Given the description of an element on the screen output the (x, y) to click on. 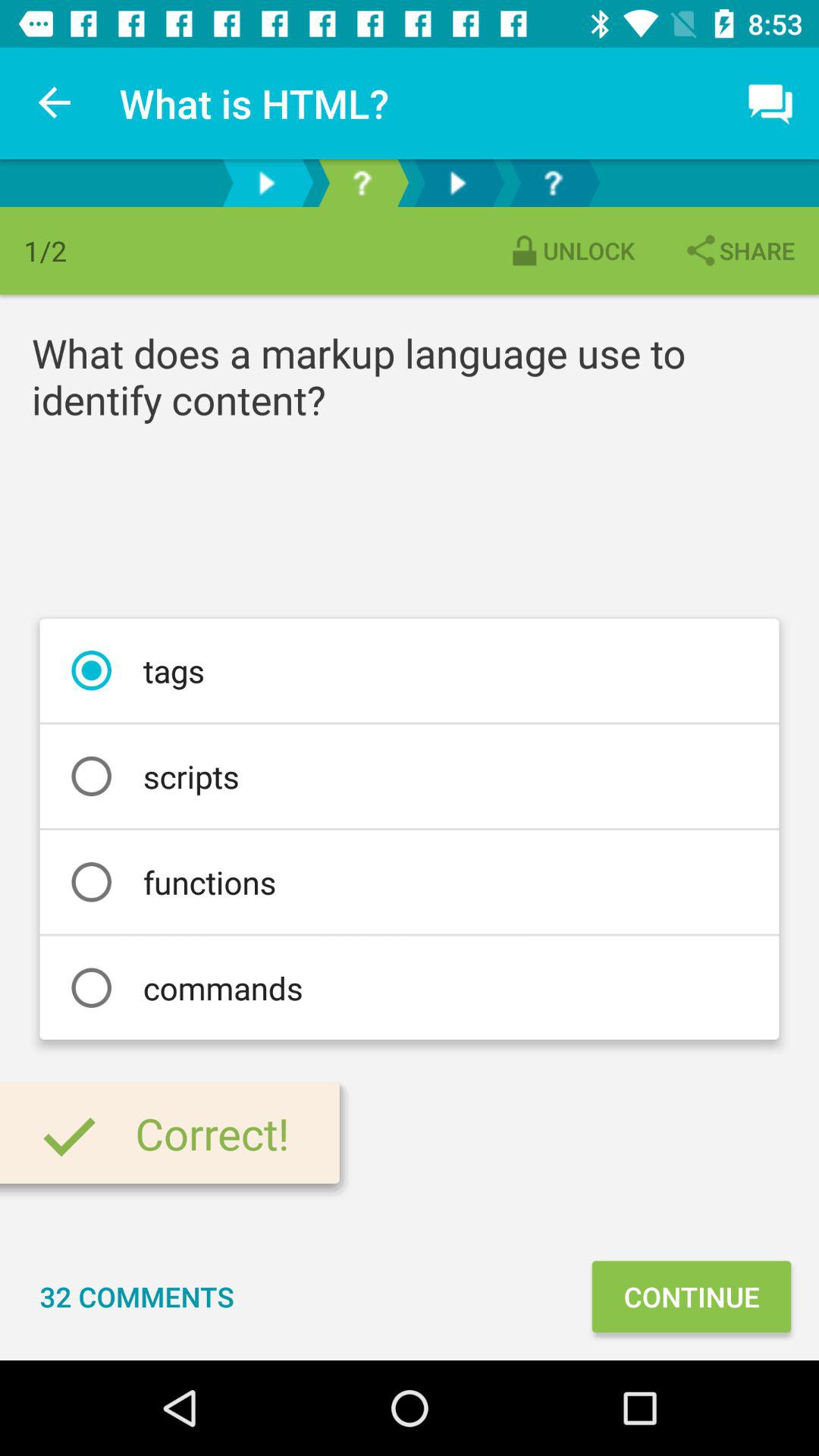
upcoming question (552, 183)
